Given the description of an element on the screen output the (x, y) to click on. 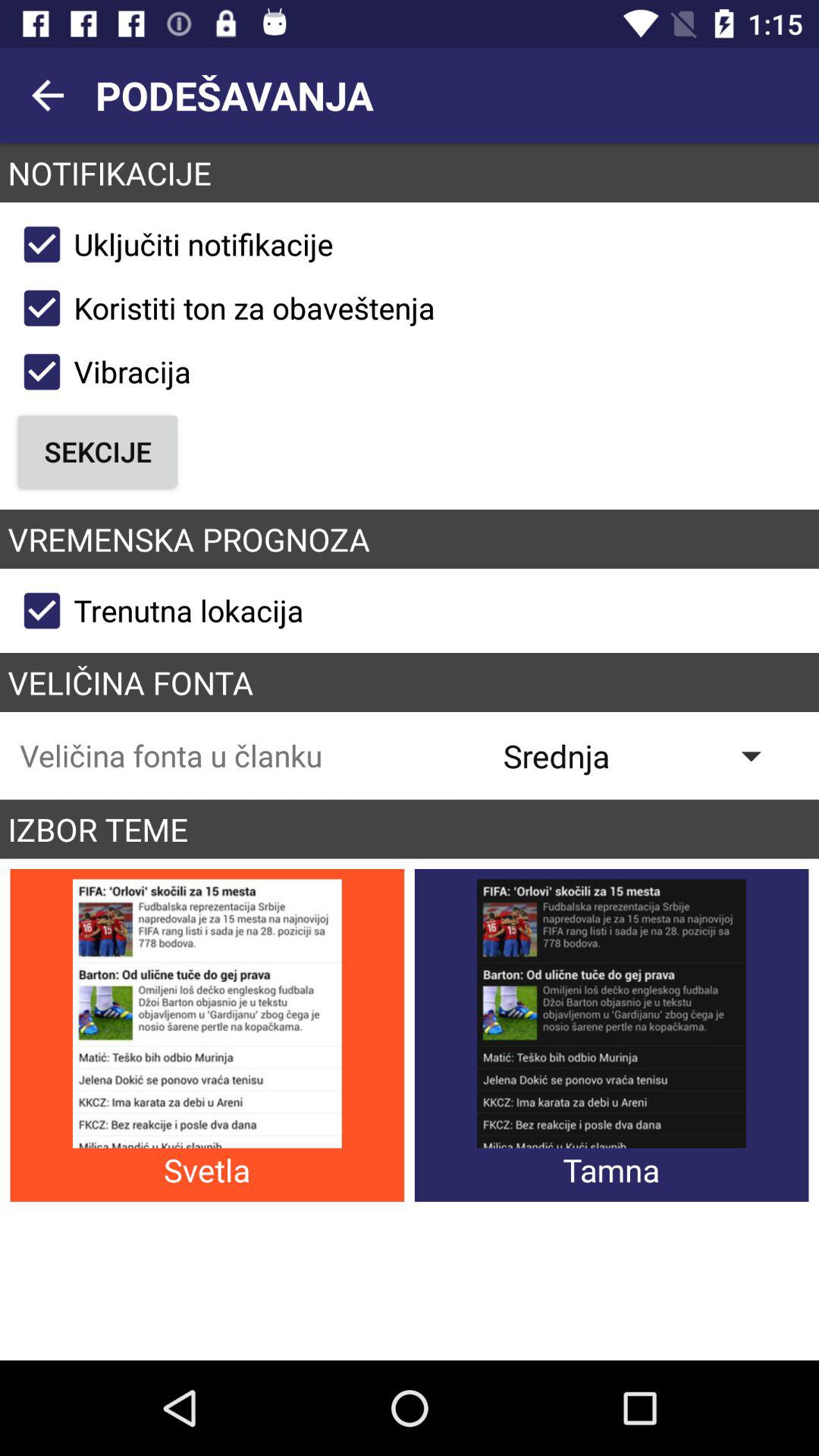
flip until the koristiti ton za (222, 308)
